Given the description of an element on the screen output the (x, y) to click on. 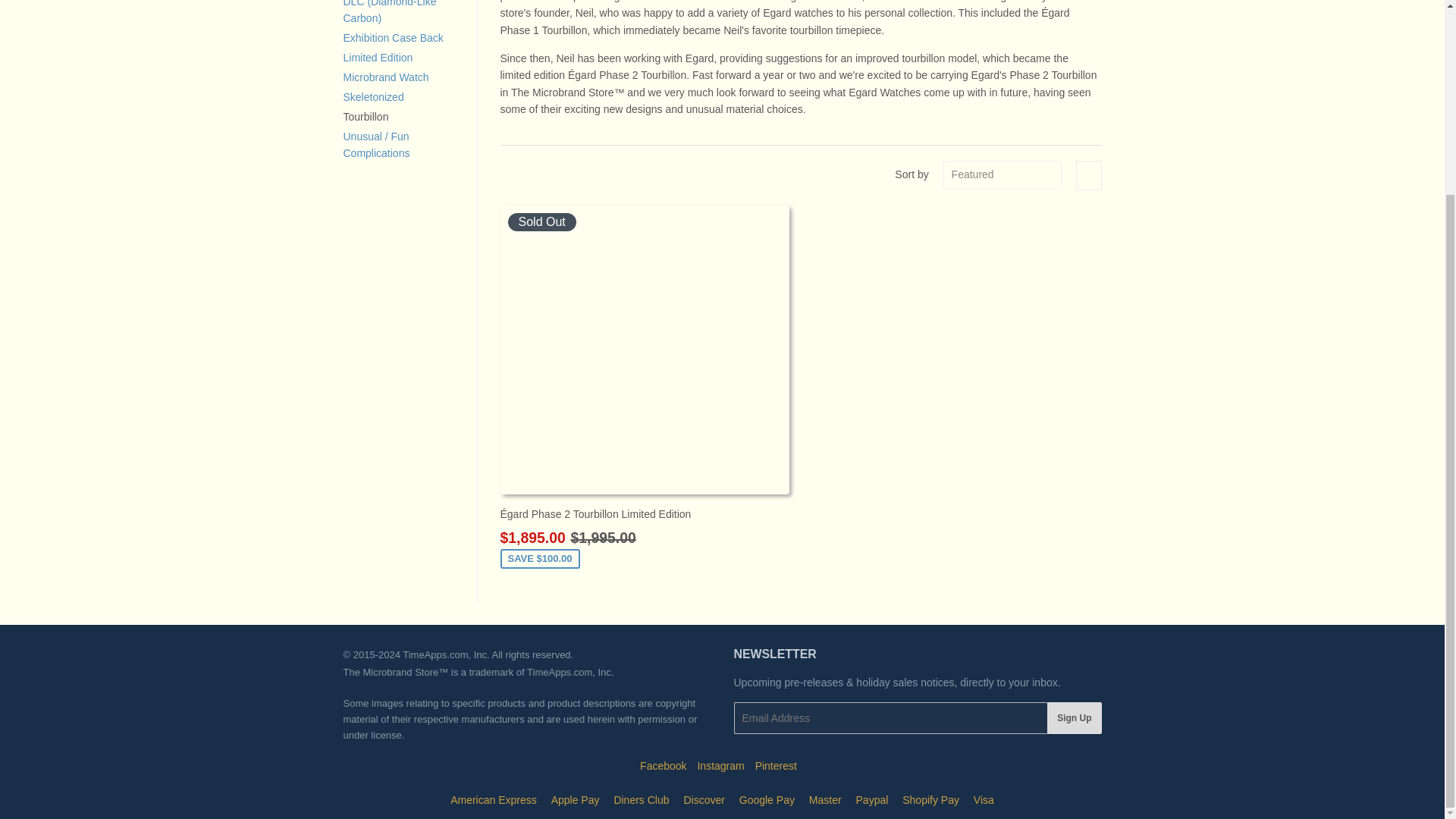
Show products matching tag Exhibition Case Back (392, 37)
The Microbrand Store on Instagram (720, 766)
Show products matching tag Limited Edition (377, 57)
The Microbrand Store on Facebook (662, 766)
The Microbrand Store on Pinterest (775, 766)
Show products matching tag Microbrand Watch (385, 77)
Show products matching tag Skeletonized (372, 96)
